Given the description of an element on the screen output the (x, y) to click on. 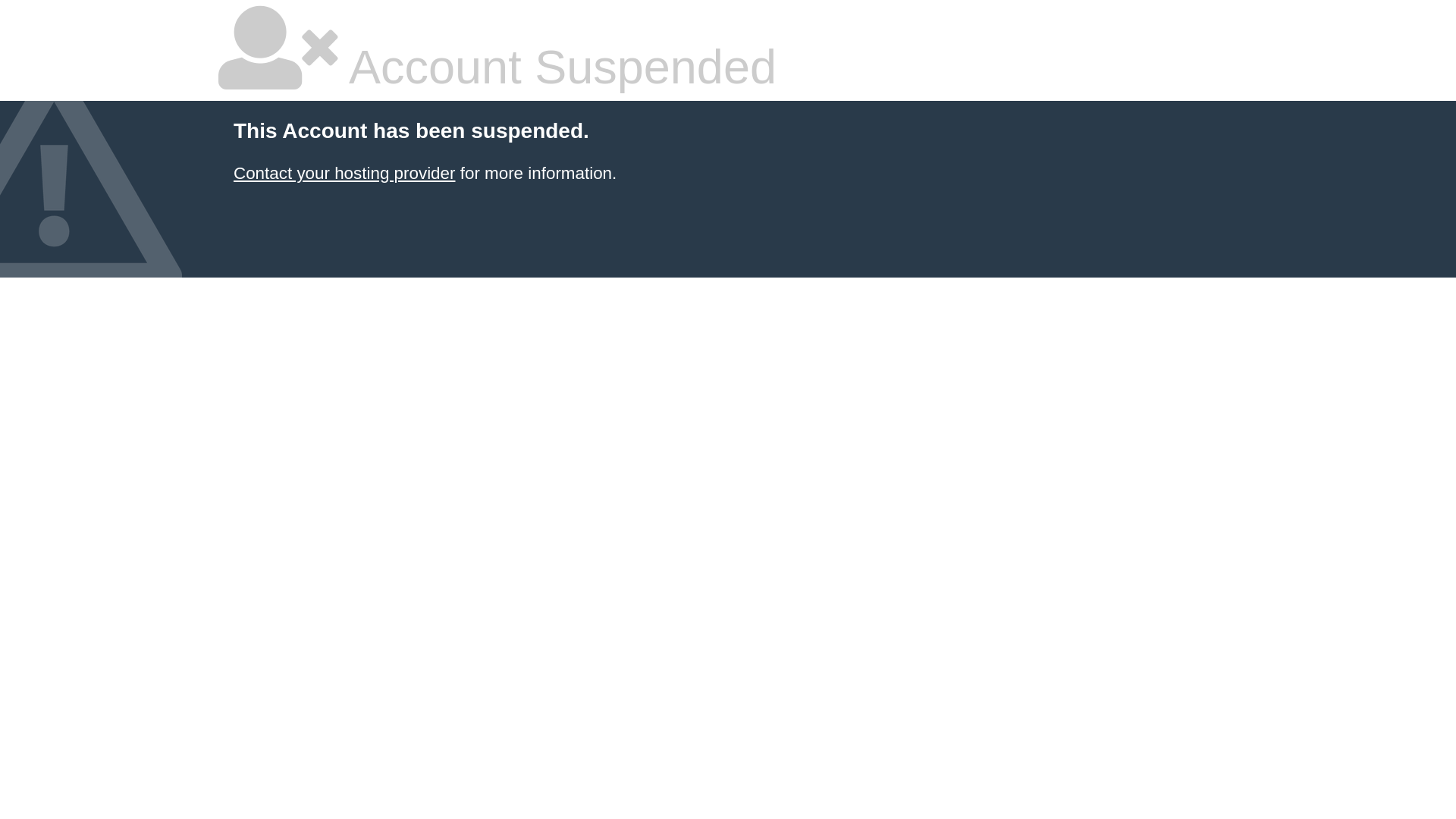
Contact your hosting provider Element type: text (344, 172)
